Given the description of an element on the screen output the (x, y) to click on. 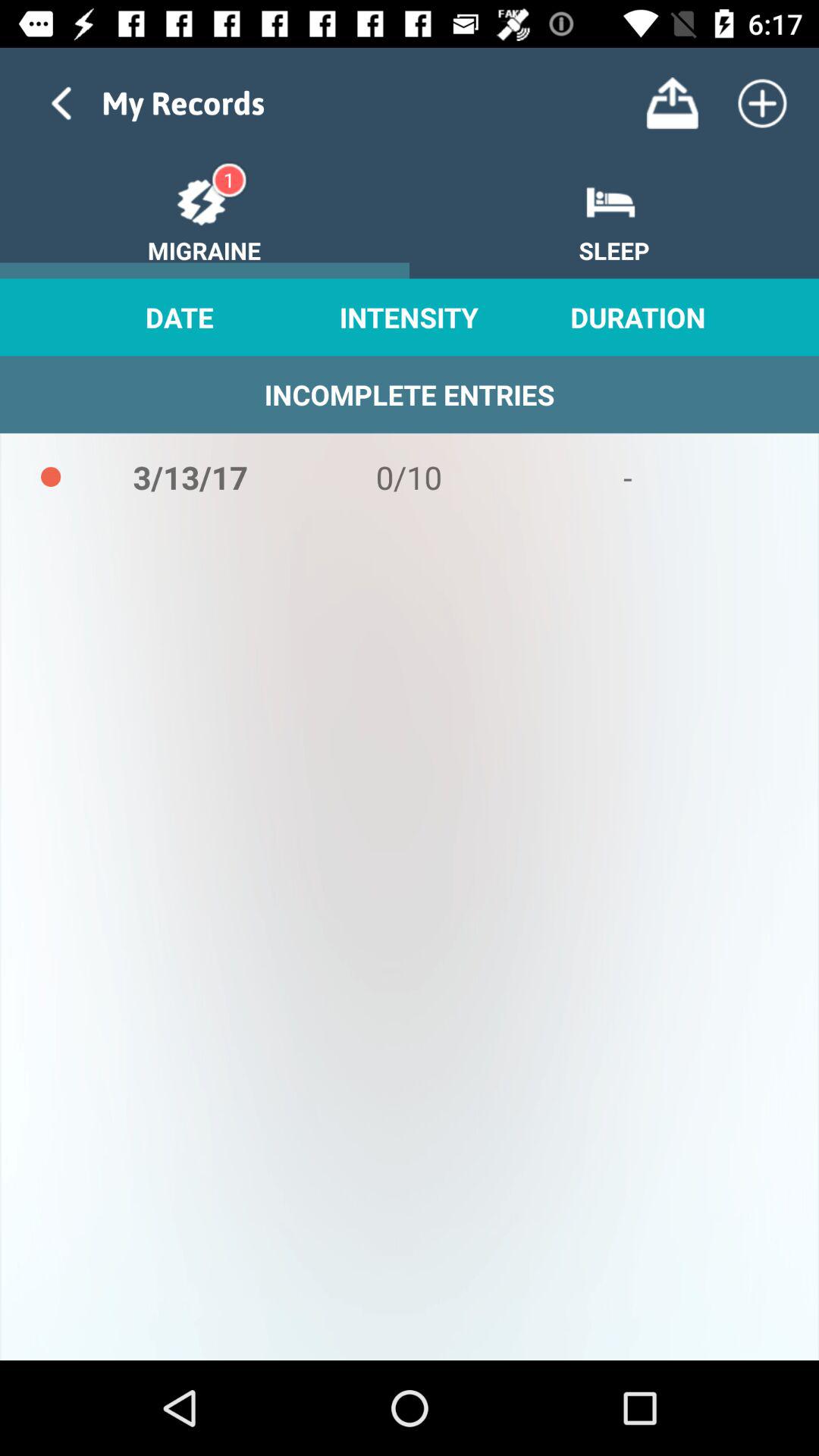
select the icon next to my records icon (672, 103)
